Given the description of an element on the screen output the (x, y) to click on. 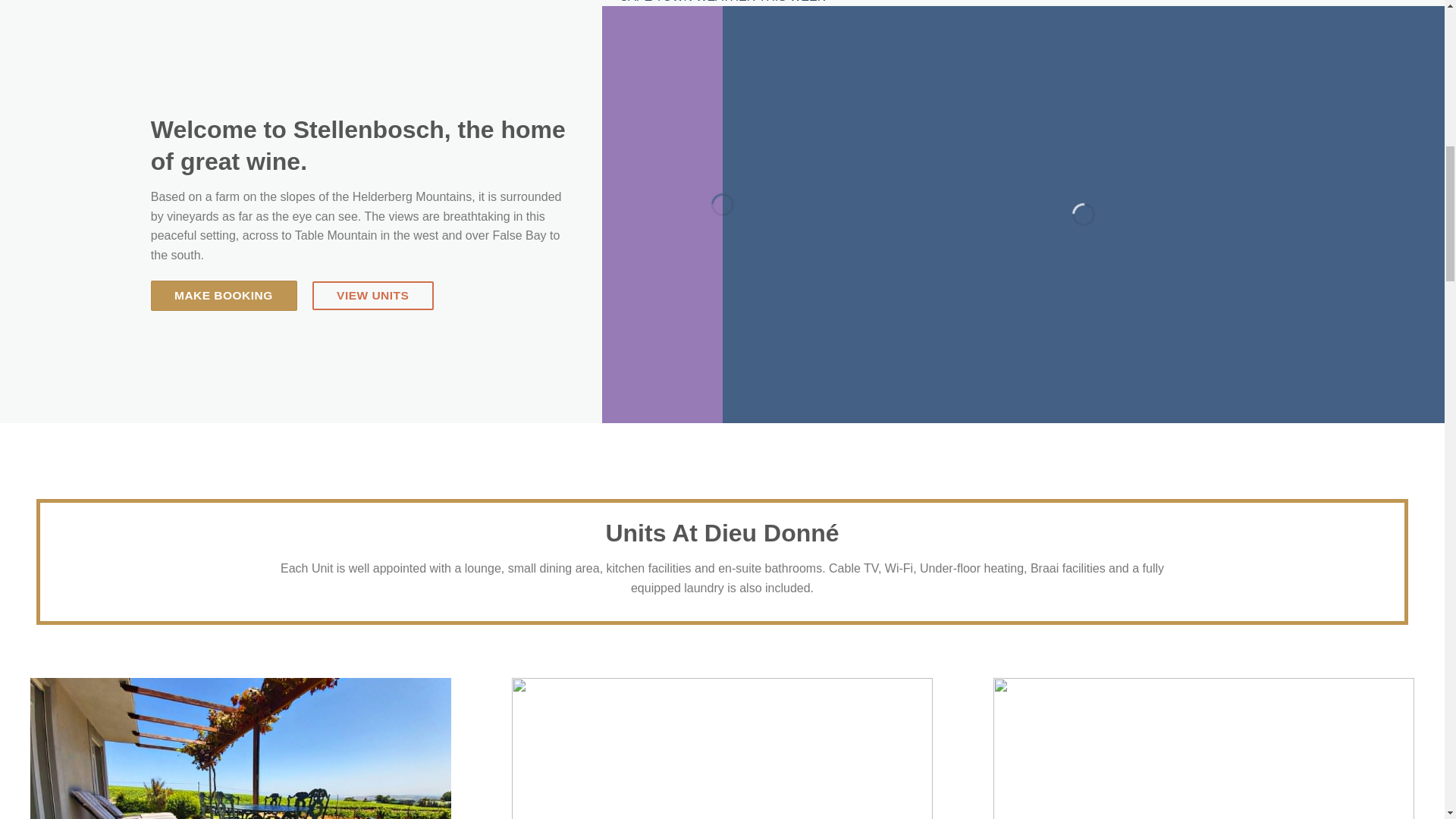
MAKE BOOKING (224, 295)
VIEW UNITS (373, 296)
CAPE TOWN WEATHER THIS WEEK (722, 1)
